Given the description of an element on the screen output the (x, y) to click on. 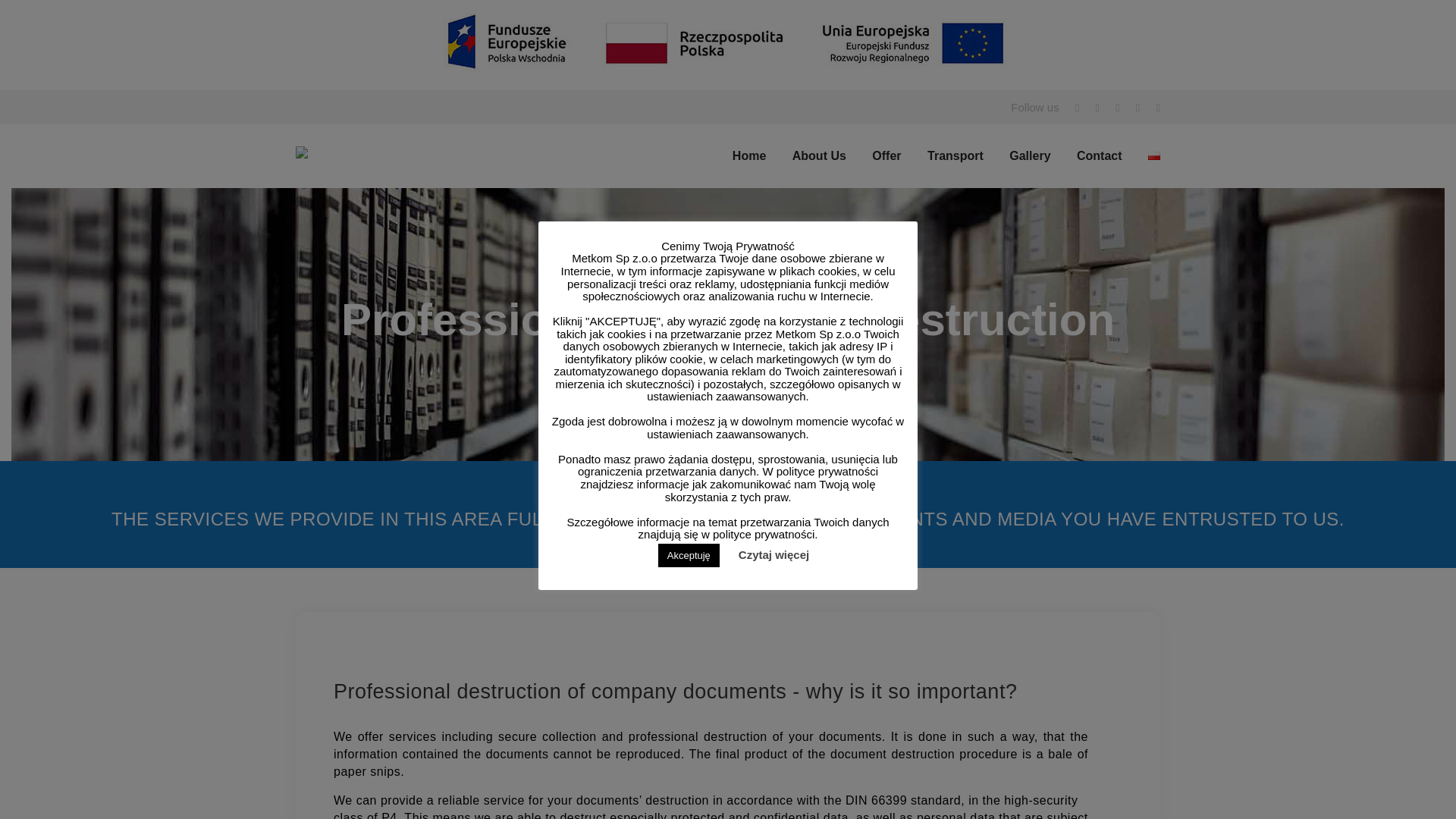
About Us (818, 155)
Home (748, 155)
Offer (886, 155)
Contact (1099, 155)
Gallery (1029, 155)
Transport (955, 155)
